Given the description of an element on the screen output the (x, y) to click on. 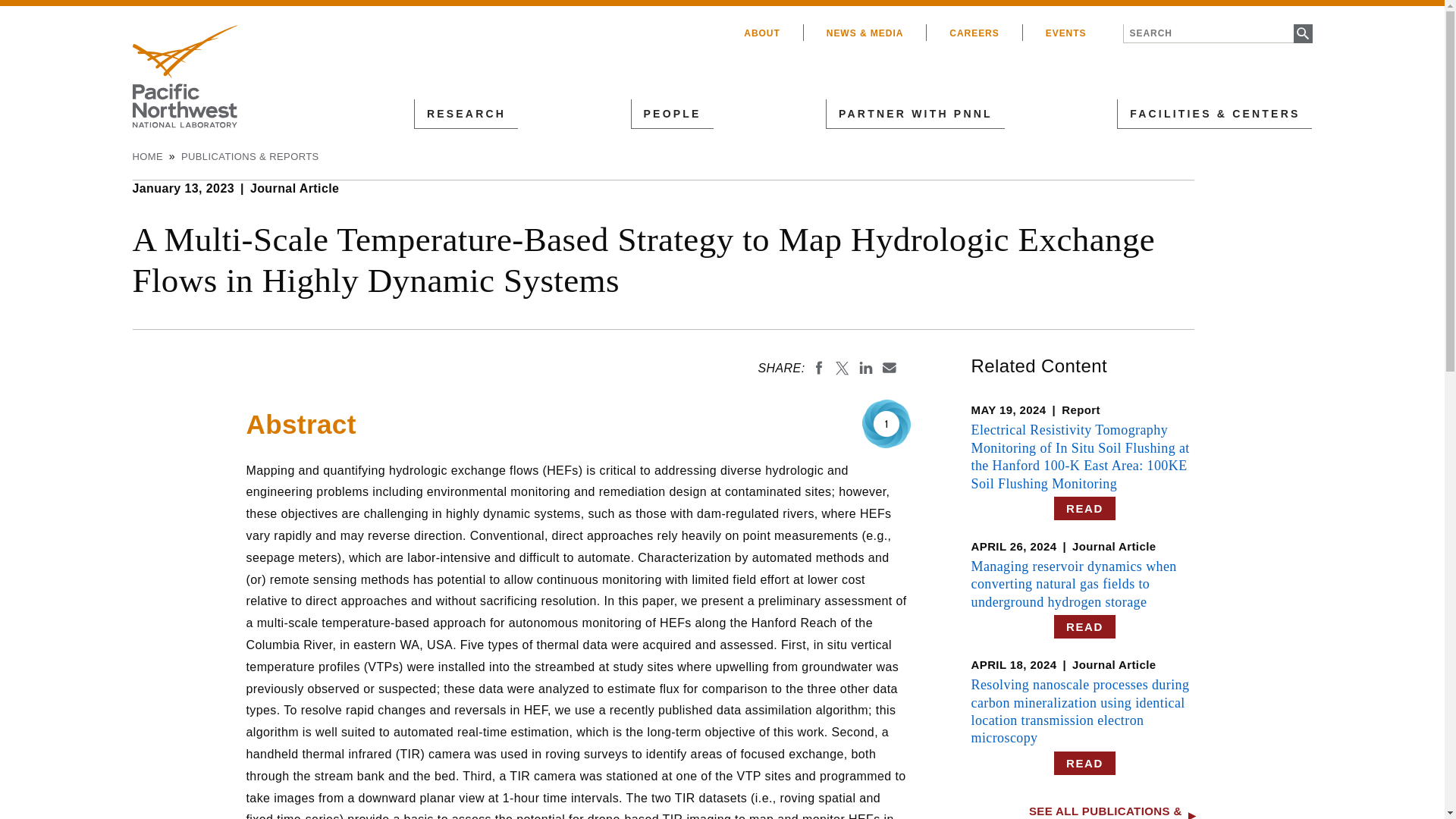
Search (1303, 33)
Skip to main content (644, 3)
